Given the description of an element on the screen output the (x, y) to click on. 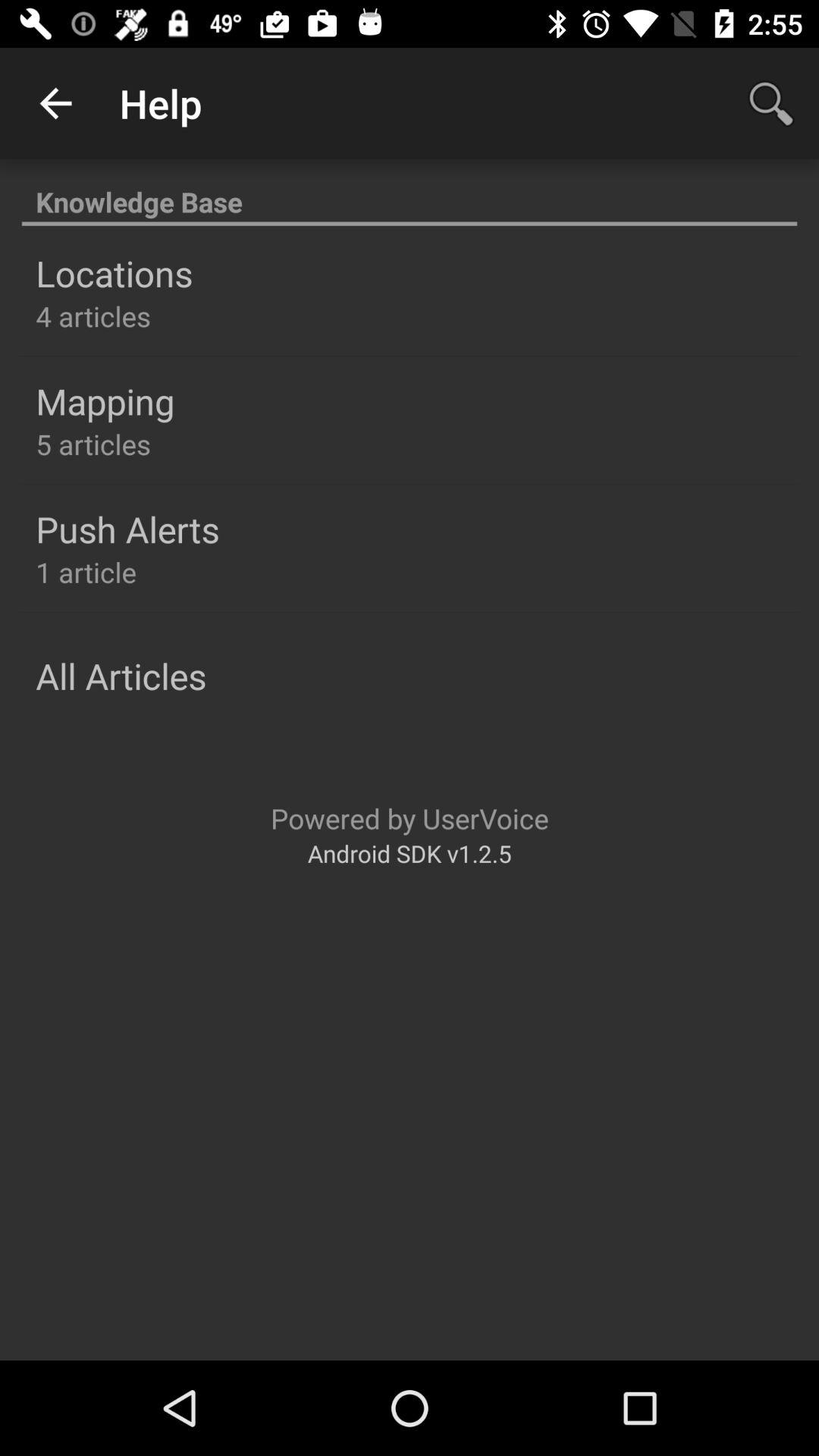
select mapping icon (104, 401)
